Given the description of an element on the screen output the (x, y) to click on. 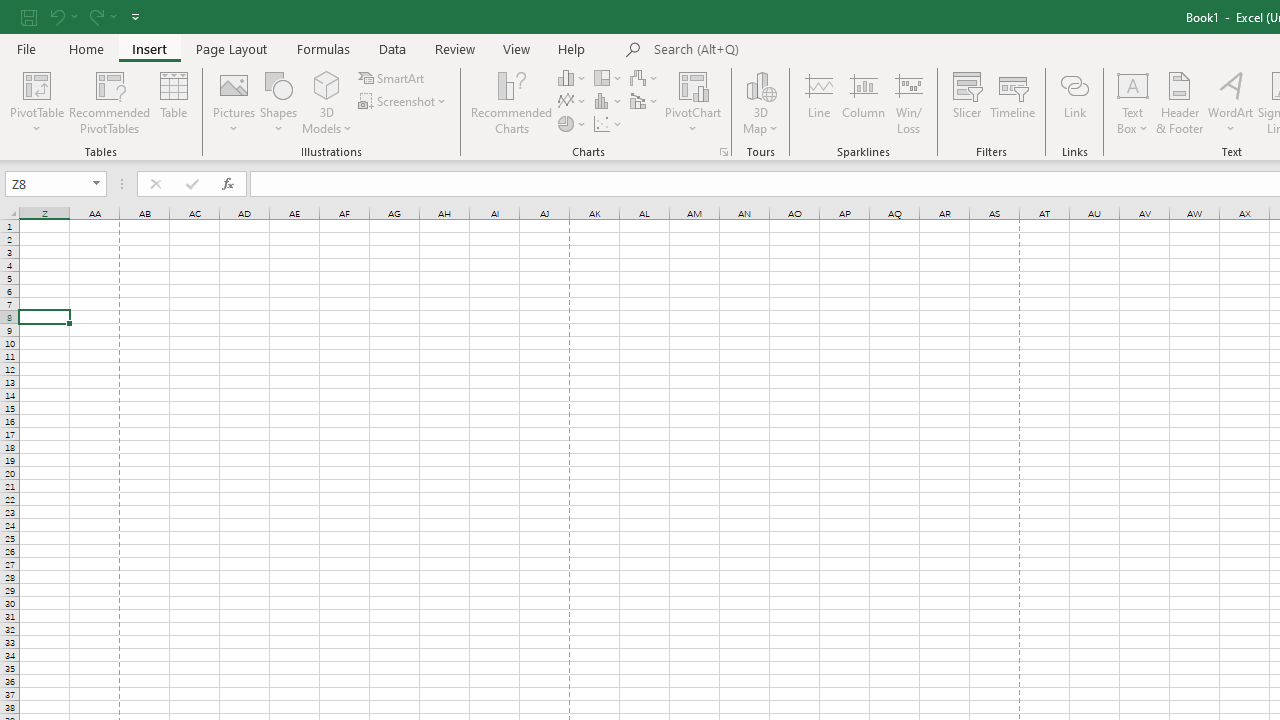
PivotTable (36, 102)
Column (863, 102)
Text Box (1133, 102)
Draw Horizontal Text Box (1133, 84)
Slicer... (966, 102)
Header & Footer... (1179, 102)
PivotChart (693, 102)
PivotChart (693, 84)
Insert Waterfall, Funnel, Stock, Surface, or Radar Chart (645, 78)
Screenshot (403, 101)
Insert Column or Bar Chart (573, 78)
3D Map (760, 102)
